Given the description of an element on the screen output the (x, y) to click on. 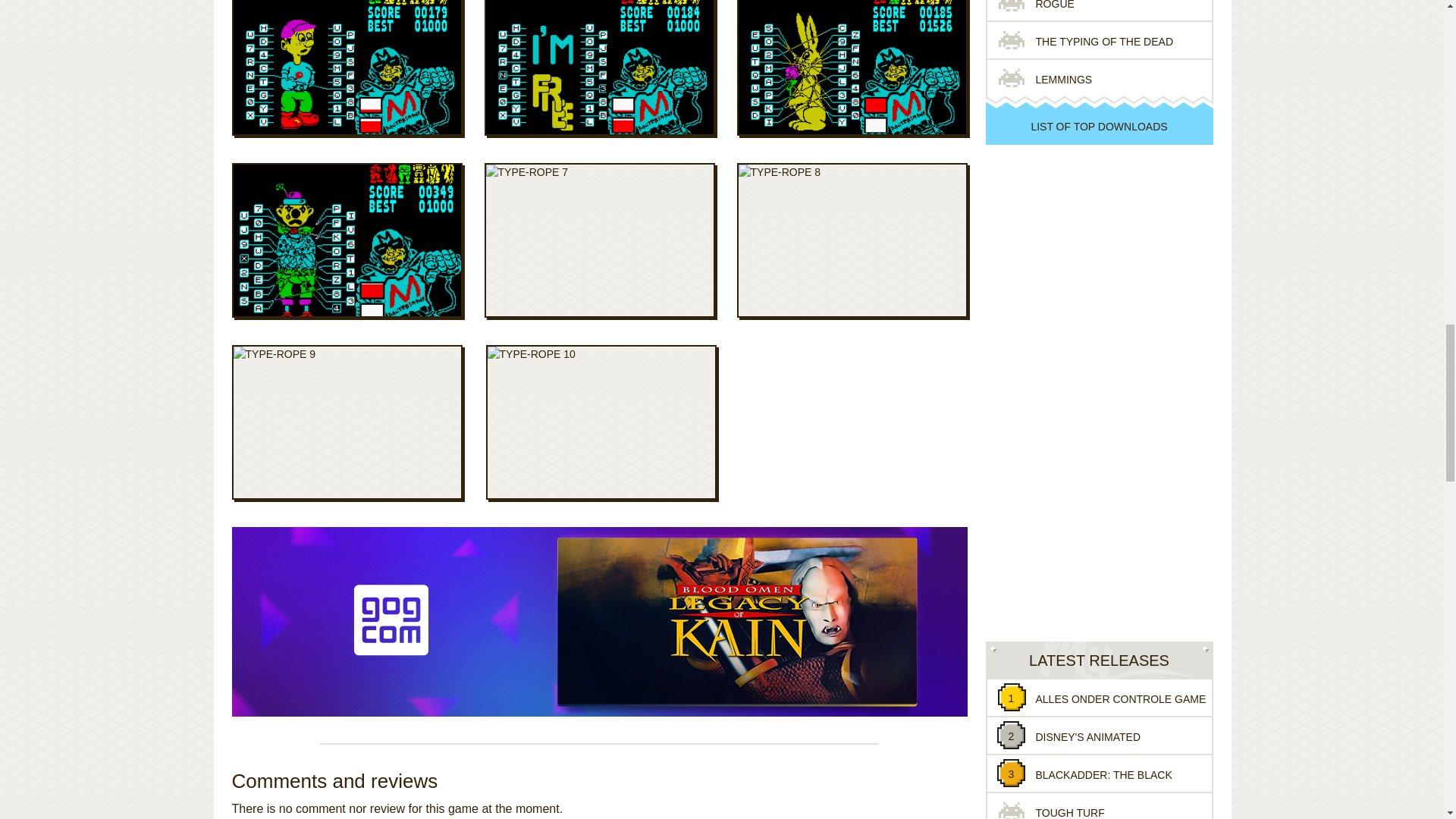
See the Top 40 Games (1098, 126)
